Given the description of an element on the screen output the (x, y) to click on. 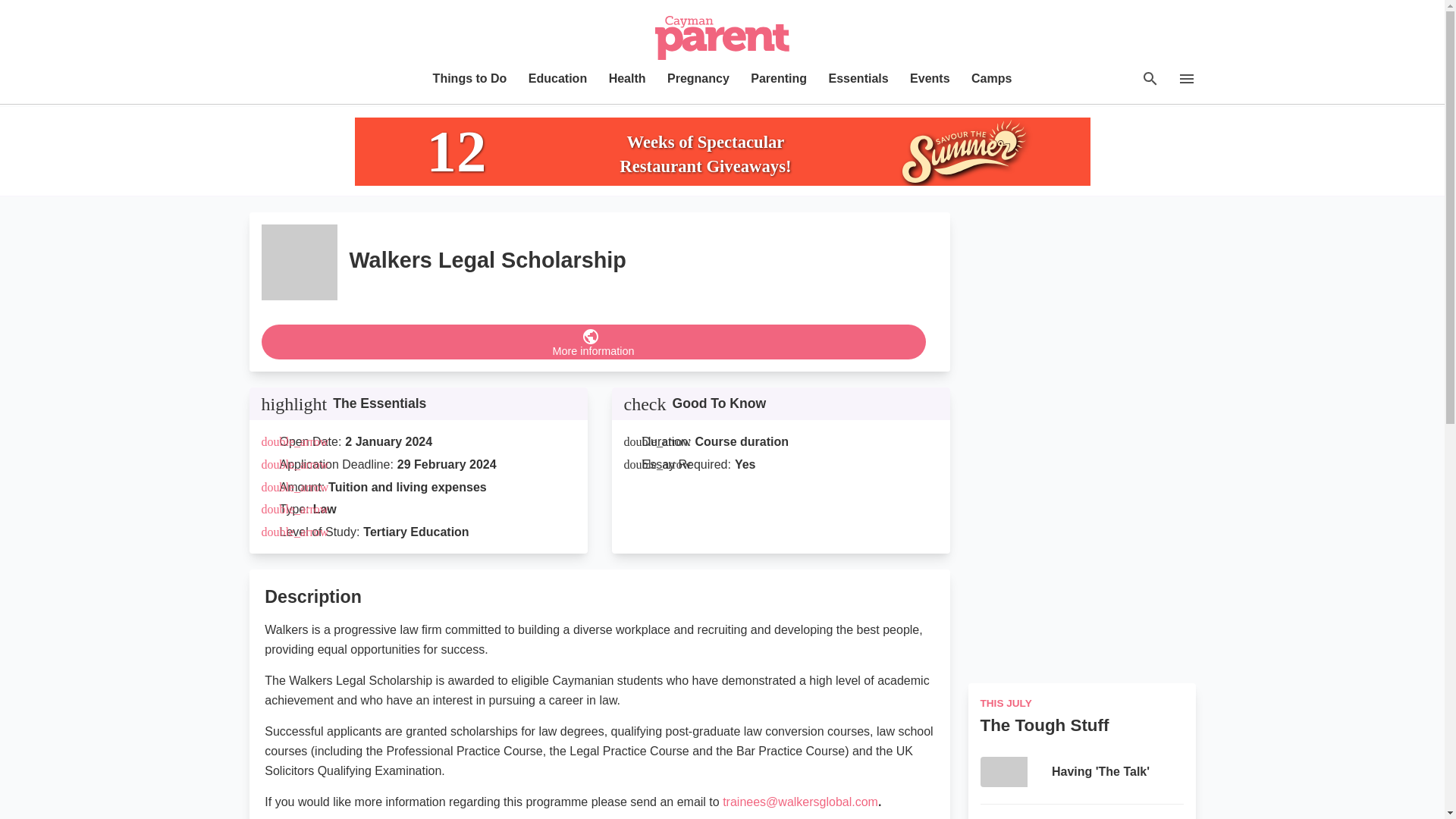
Parenting (778, 78)
3rd party ad content (722, 151)
Things to Do (469, 78)
Events (929, 78)
Education (557, 78)
Essentials (858, 78)
Camps (991, 78)
Health (627, 78)
Pregnancy (697, 78)
